Given the description of an element on the screen output the (x, y) to click on. 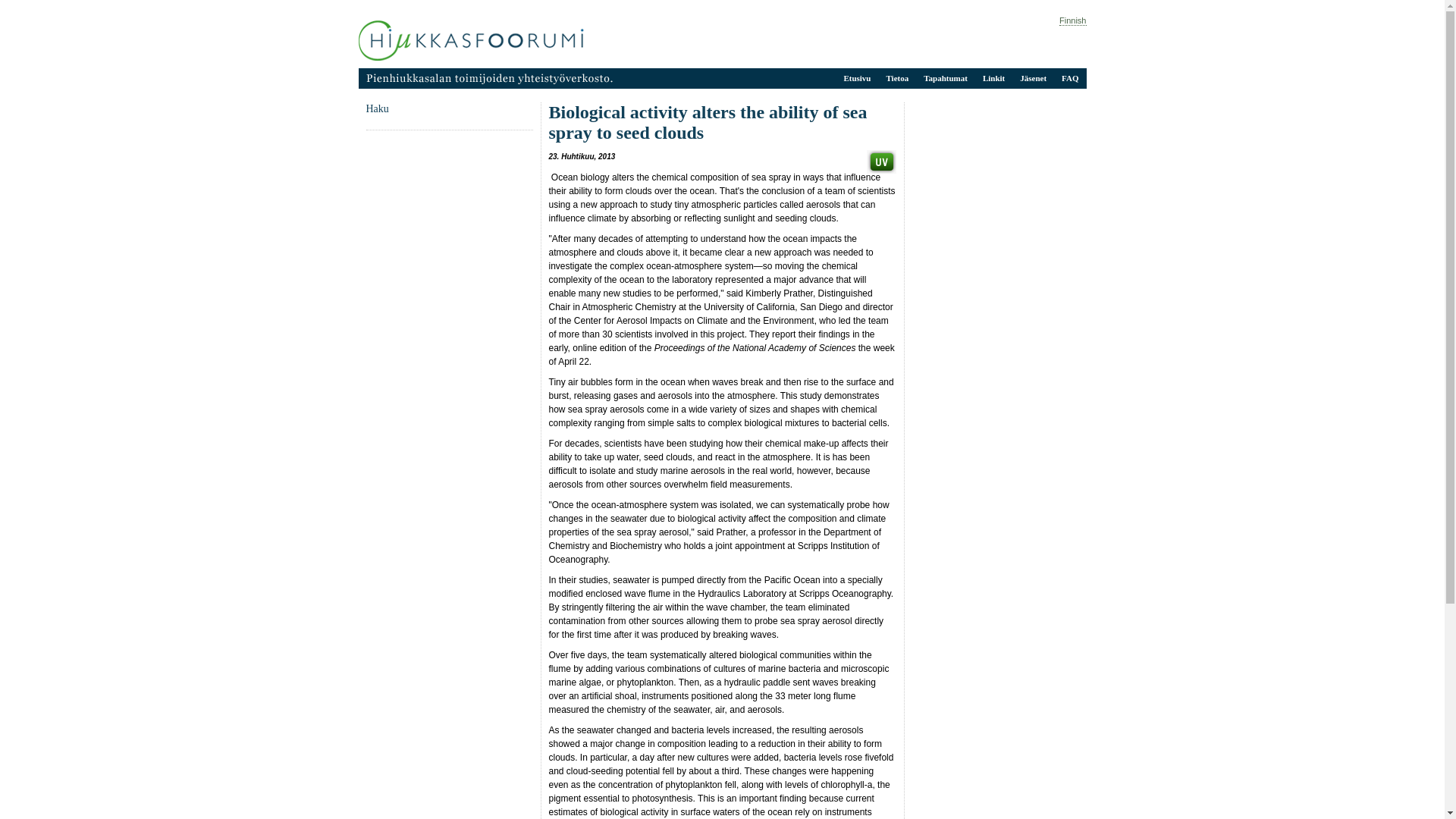
Tapahtumat (945, 77)
FAQ (1069, 77)
Linkit (993, 77)
Uutisvinkit (880, 161)
Hiukkasfoorumi, Fine Particle Forum (470, 40)
Tietoja nano- ja pienhiukkasalan tapahtumista (945, 77)
Etusivu (470, 40)
Tietoa Hiukkasfoorumista (896, 77)
Finnish (1072, 20)
Tietoa (896, 77)
Uutisvinkit (880, 161)
Etusivu (856, 77)
